Given the description of an element on the screen output the (x, y) to click on. 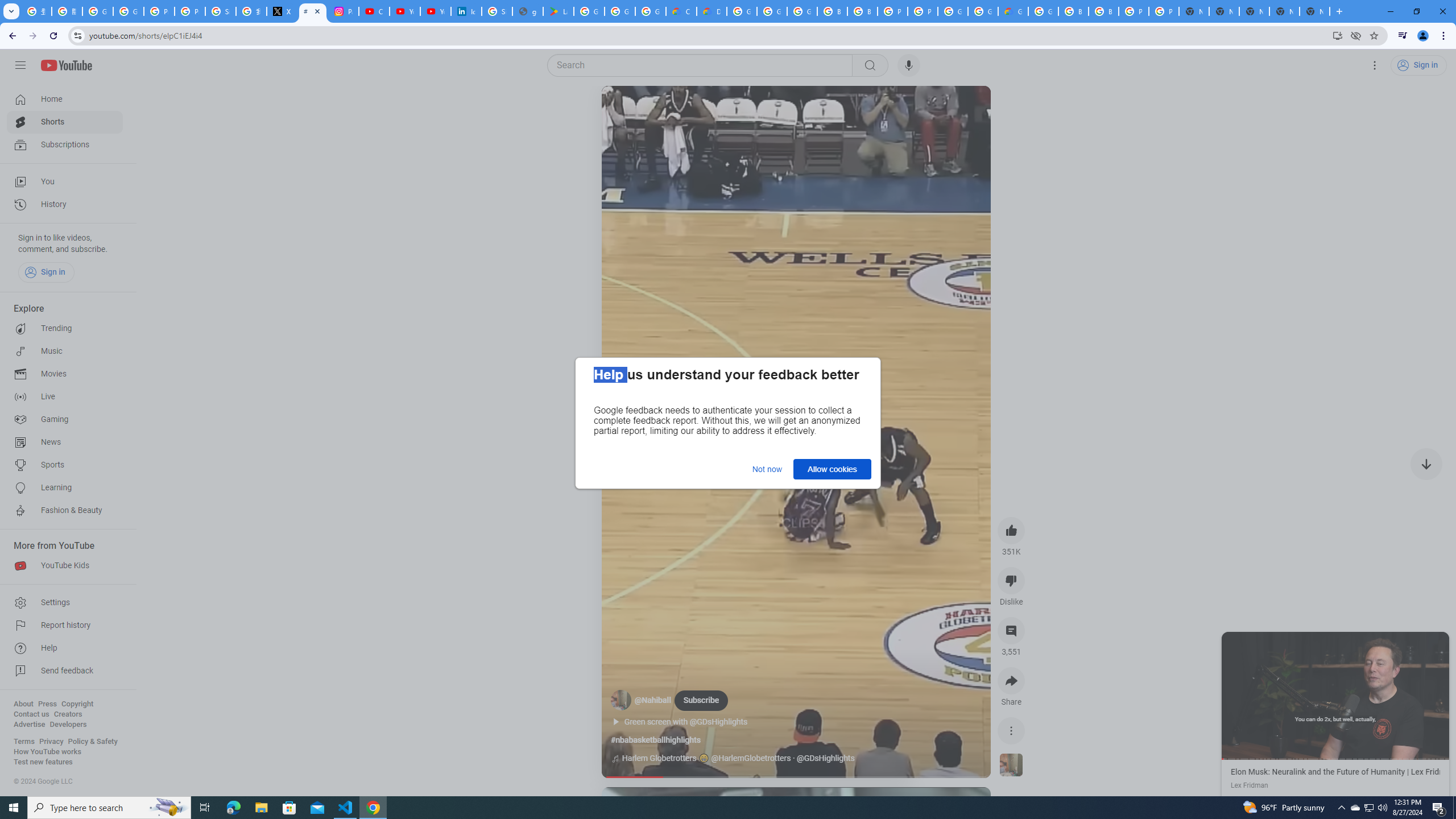
Install YouTube (1336, 35)
Play (k) (623, 108)
Google Cloud Platform (982, 11)
Mute (657, 108)
Pause (k) (1334, 694)
Last Shelter: Survival - Apps on Google Play (558, 11)
like this video along with 351K other people (1011, 530)
Policy & Safety (91, 741)
